Given the description of an element on the screen output the (x, y) to click on. 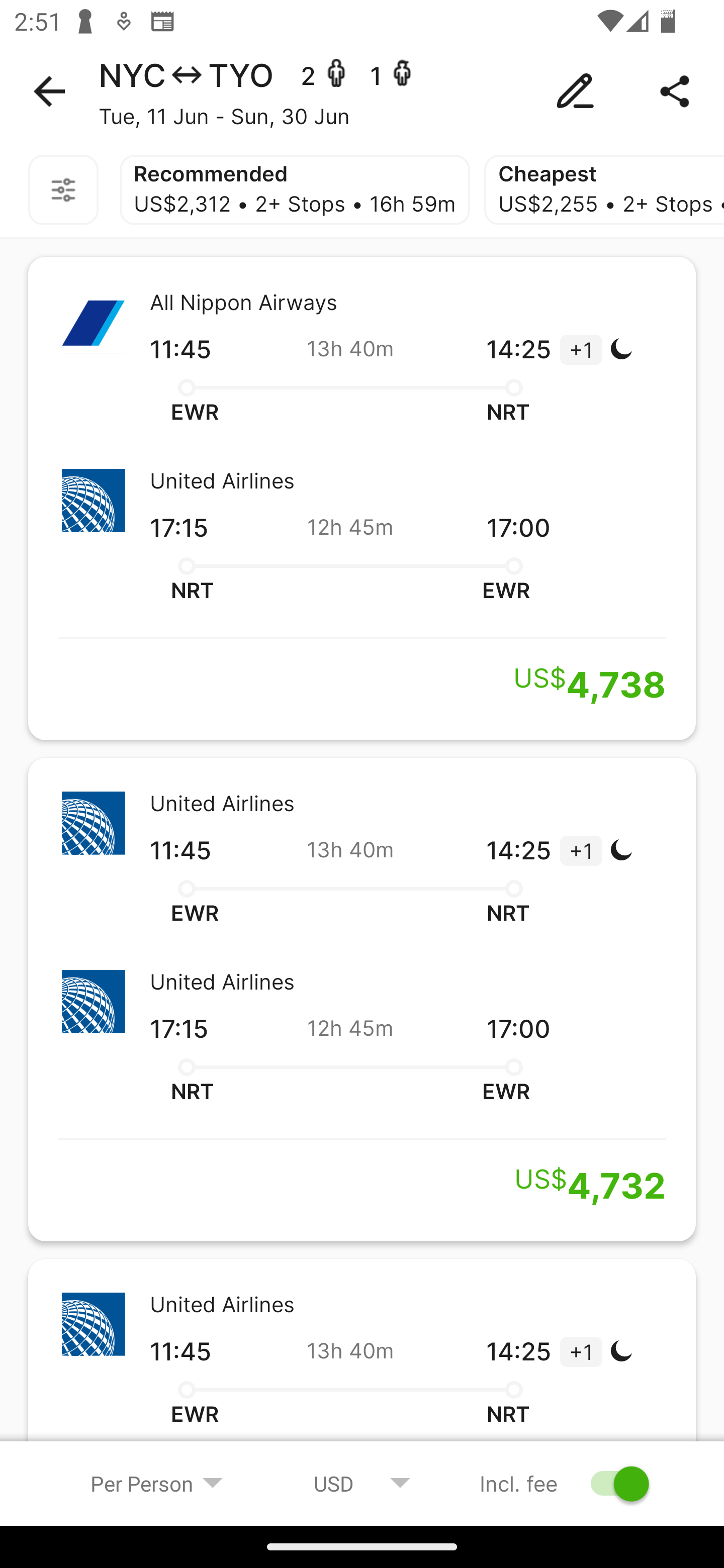
NYC TYO   2 -   1 - Tue, 11 Jun - Sun, 30 Jun (361, 91)
Recommended  US$2,312 • 2+ Stops • 16h 59m (294, 190)
Cheapest US$2,255 • 2+ Stops • 24h 8m (604, 190)
Per Person (156, 1482)
USD (361, 1482)
